Given the description of an element on the screen output the (x, y) to click on. 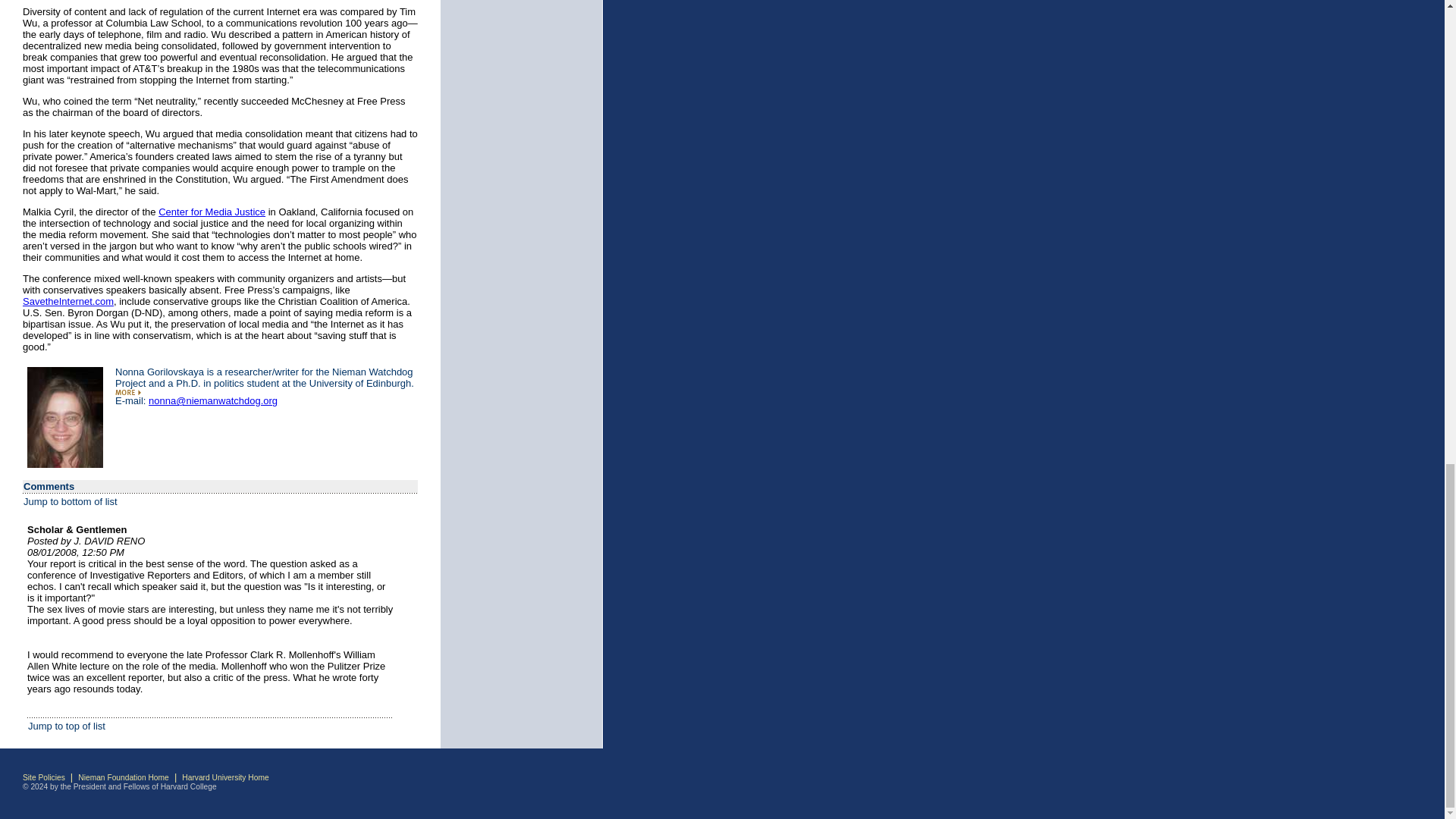
Harvard University Home (224, 777)
Site Policies (44, 777)
Nieman Foundation Home (123, 777)
Center for Media Justice (211, 211)
Jump to top of list (65, 726)
SavetheInternet.com (68, 301)
Jump to bottom of list (70, 501)
